Given the description of an element on the screen output the (x, y) to click on. 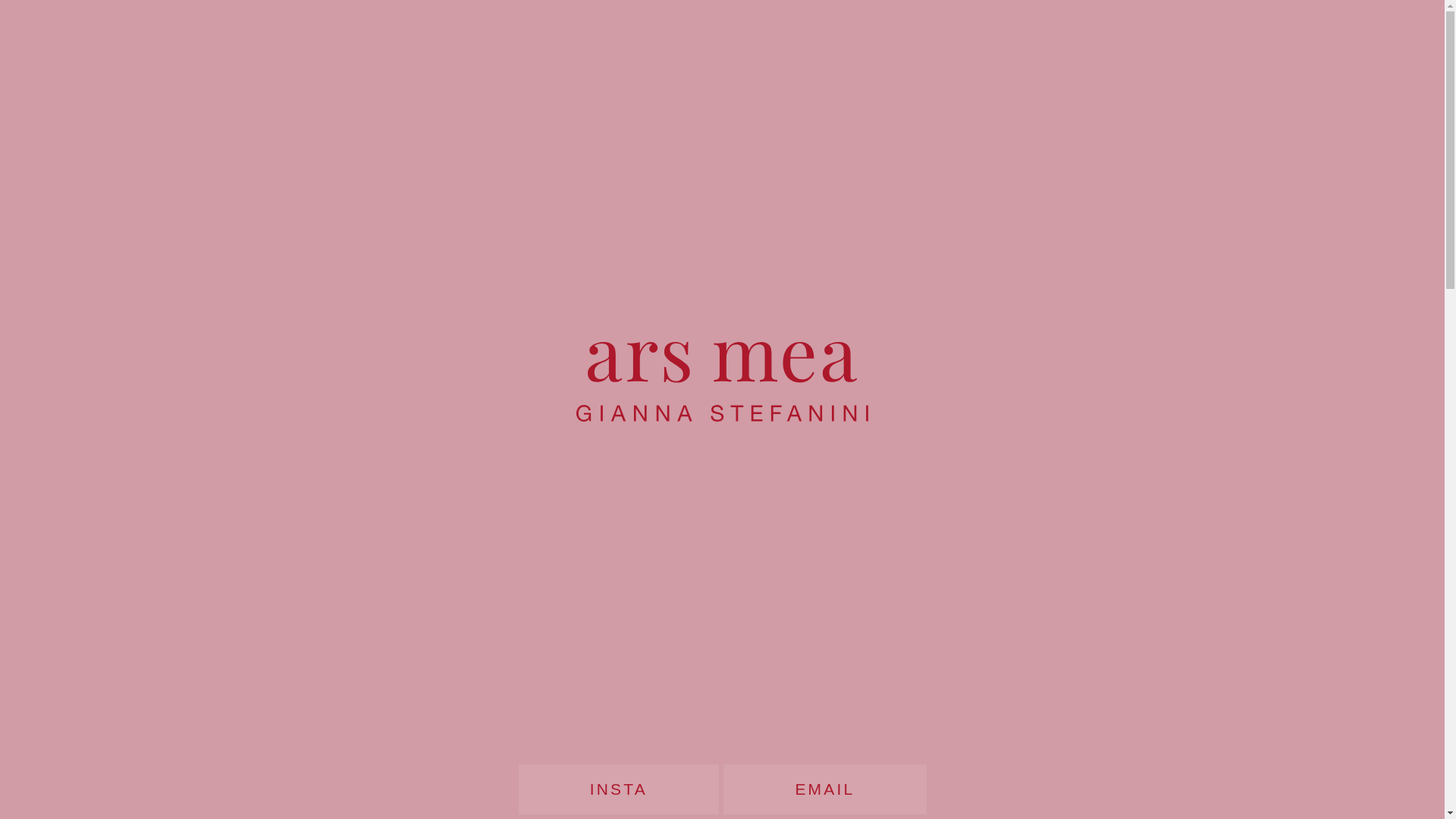
EMAIL Element type: text (824, 789)
INSTA Element type: text (618, 789)
